Given the description of an element on the screen output the (x, y) to click on. 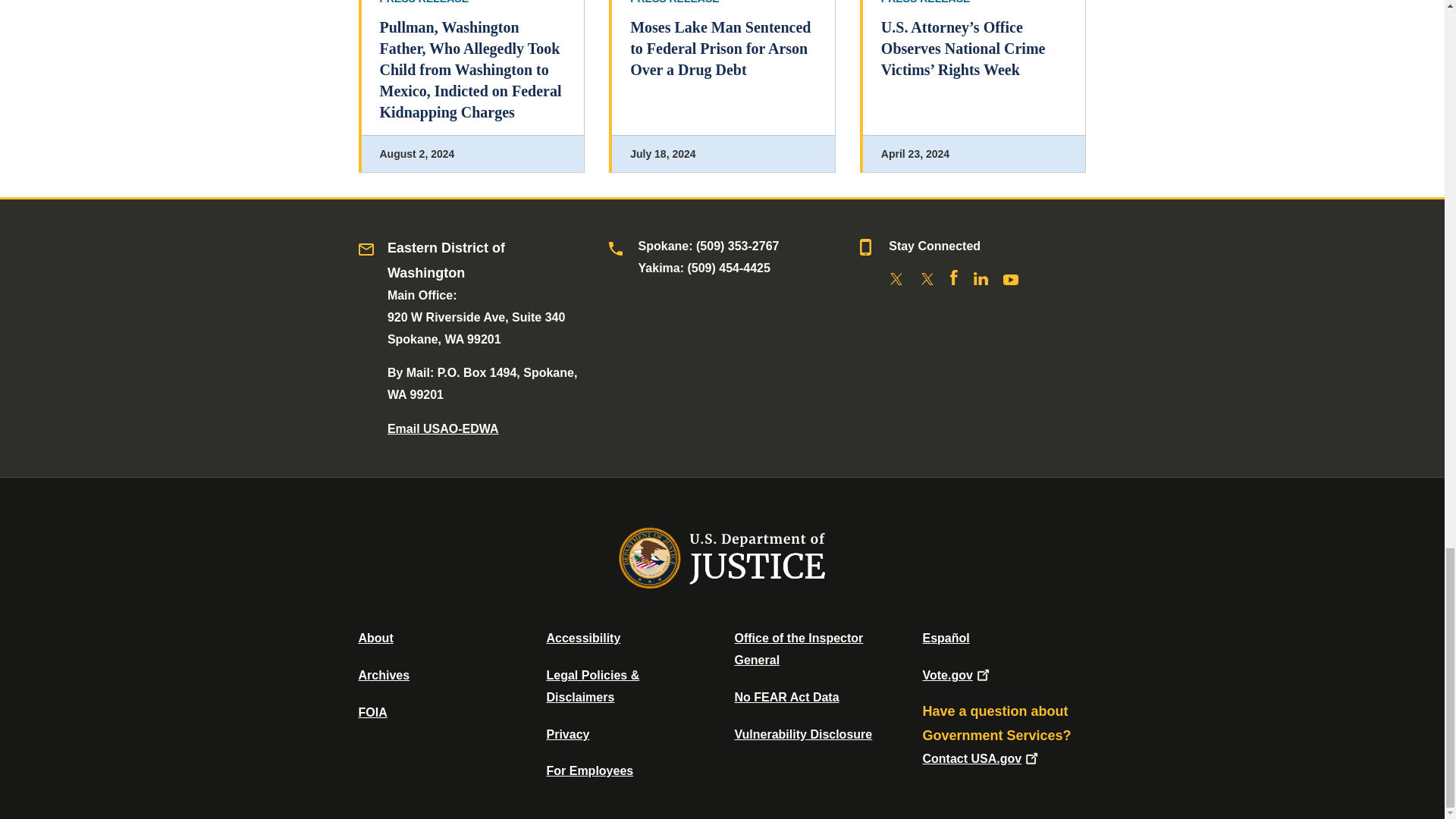
Legal Policies and Disclaimers (592, 686)
Data Posted Pursuant To The No Fear Act (785, 697)
Department of Justice Archive (383, 675)
Accessibility Statement (583, 637)
About DOJ (375, 637)
Office of Information Policy (372, 712)
For Employees (589, 770)
